Given the description of an element on the screen output the (x, y) to click on. 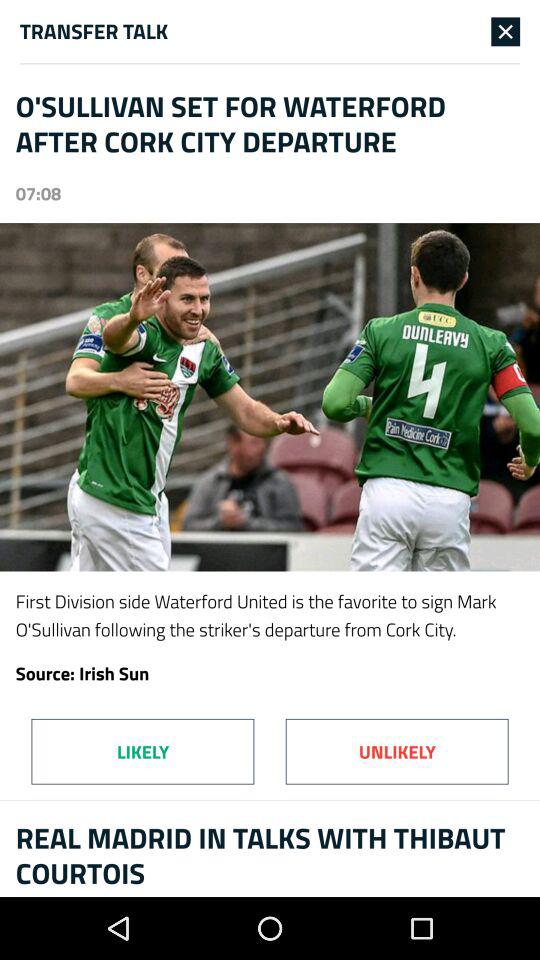
turn on icon to the left of unlikely item (142, 751)
